Given the description of an element on the screen output the (x, y) to click on. 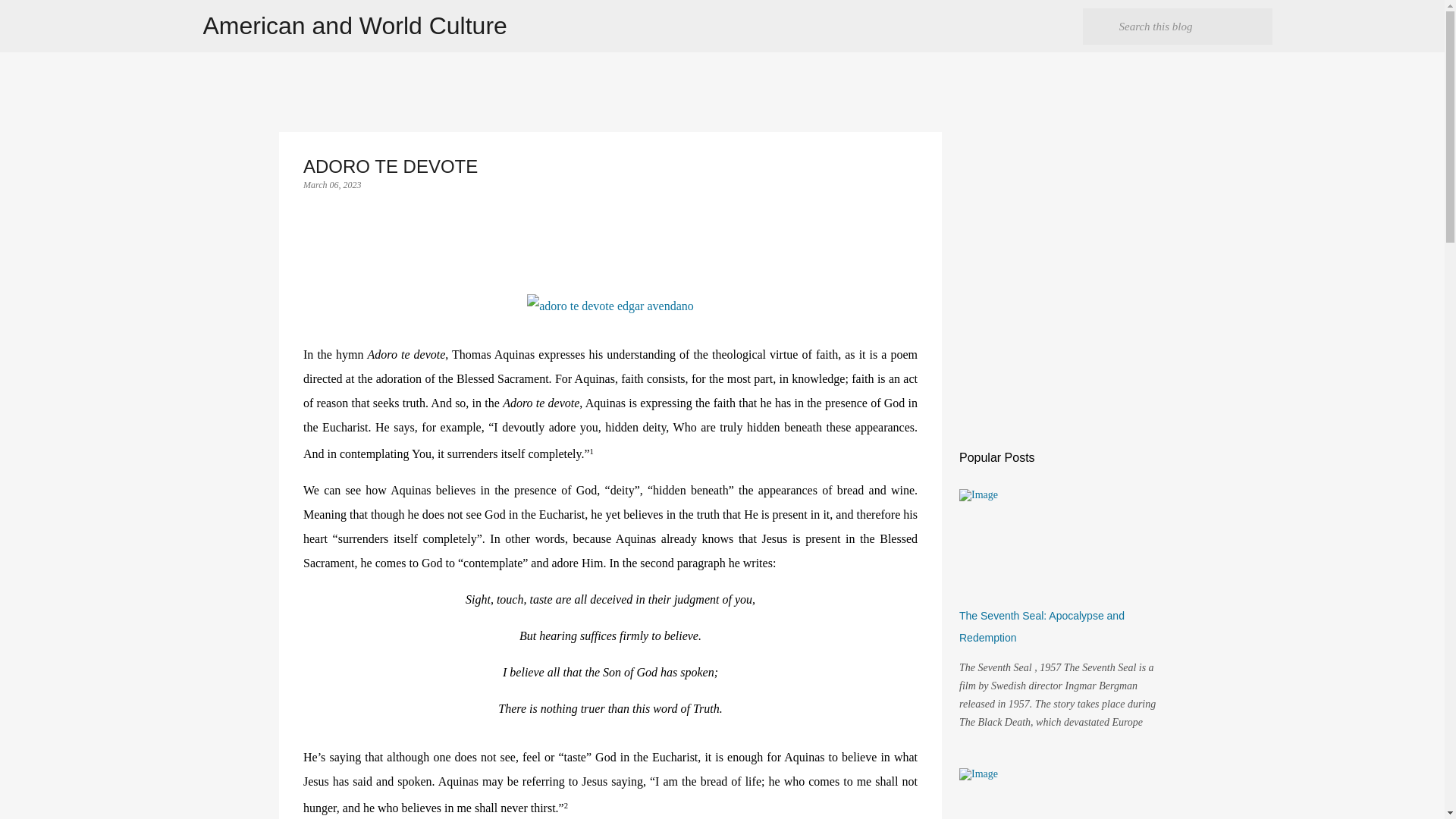
permanent link (331, 184)
Page 4 (609, 776)
March 06, 2023 (331, 184)
The Seventh Seal: Apocalypse and Redemption (1041, 626)
American and World Culture (354, 25)
